Given the description of an element on the screen output the (x, y) to click on. 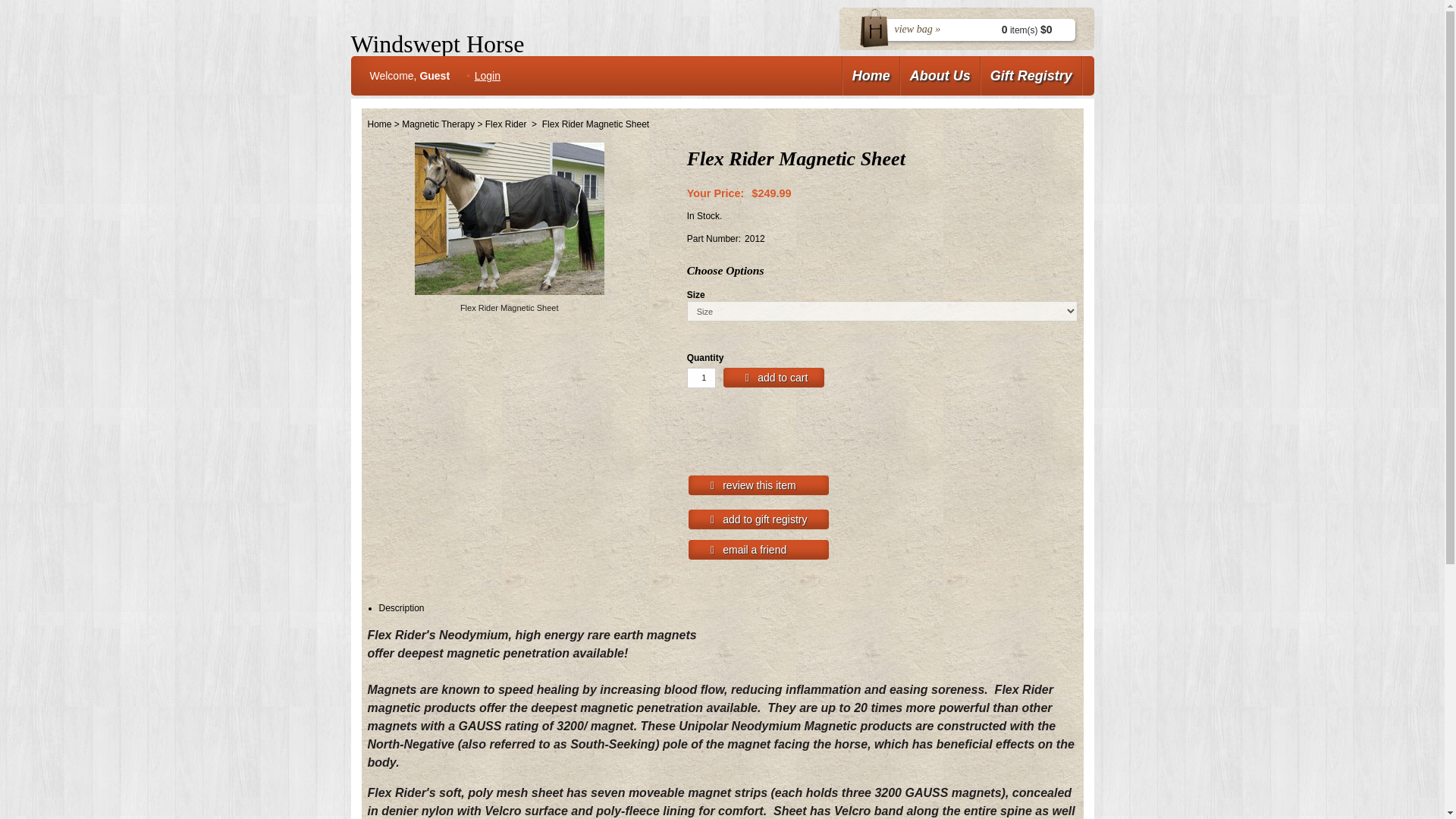
Windswept Horse  (536, 43)
1 (701, 377)
About Us (940, 75)
Flex Rider Magnetic Sheet  (508, 307)
Gift Registry (1030, 75)
add to gift registry (758, 519)
Login (486, 75)
Flex Rider (505, 123)
Home (378, 123)
review this item (758, 485)
